Given the description of an element on the screen output the (x, y) to click on. 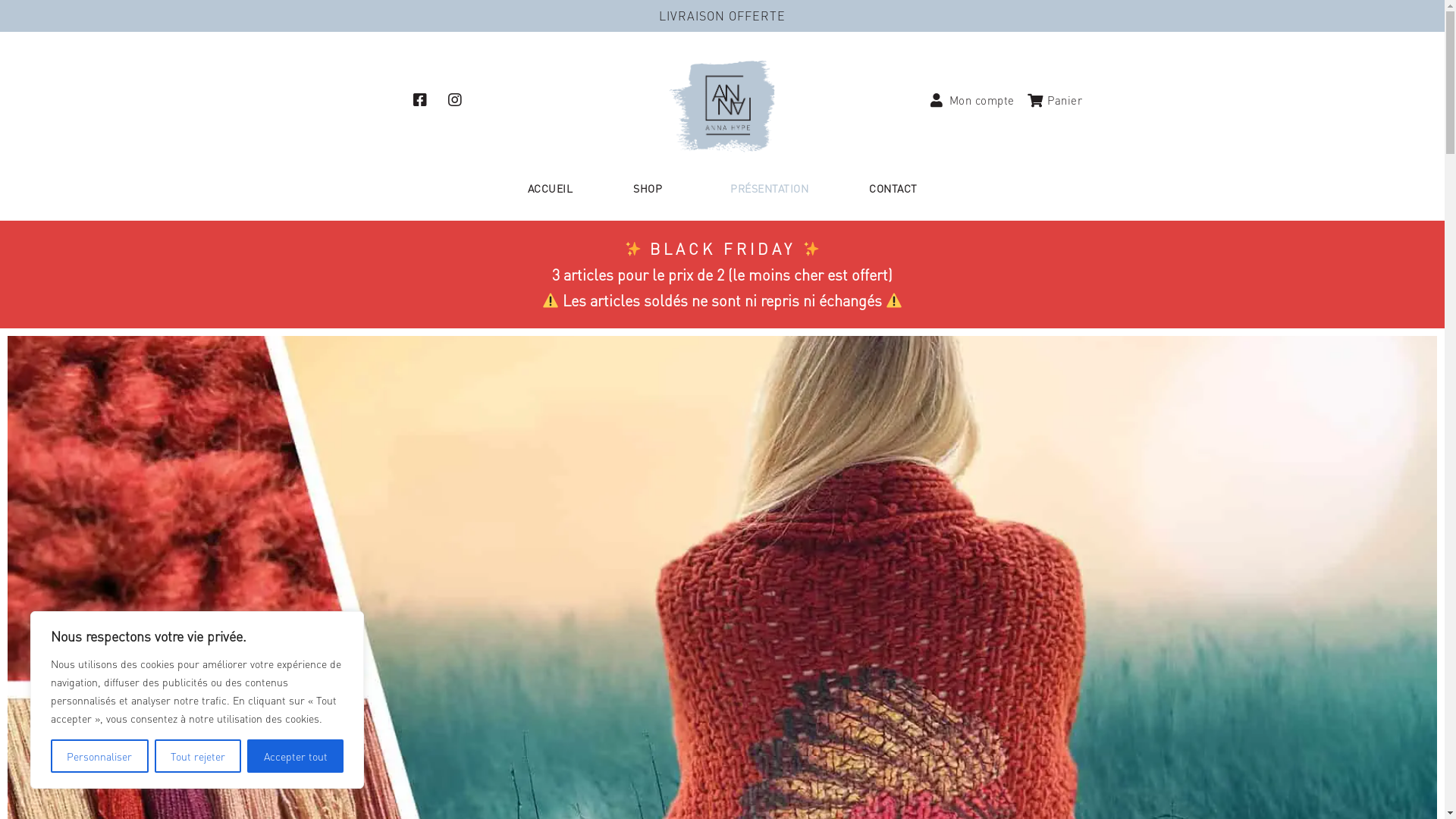
Accepter tout Element type: text (295, 755)
Personnaliser Element type: text (99, 755)
ACCUEIL Element type: text (550, 187)
CONTACT Element type: text (892, 187)
Mon compte Element type: text (971, 100)
Panier Element type: text (1054, 100)
Tout rejeter Element type: text (197, 755)
SHOP Element type: text (650, 187)
